Given the description of an element on the screen output the (x, y) to click on. 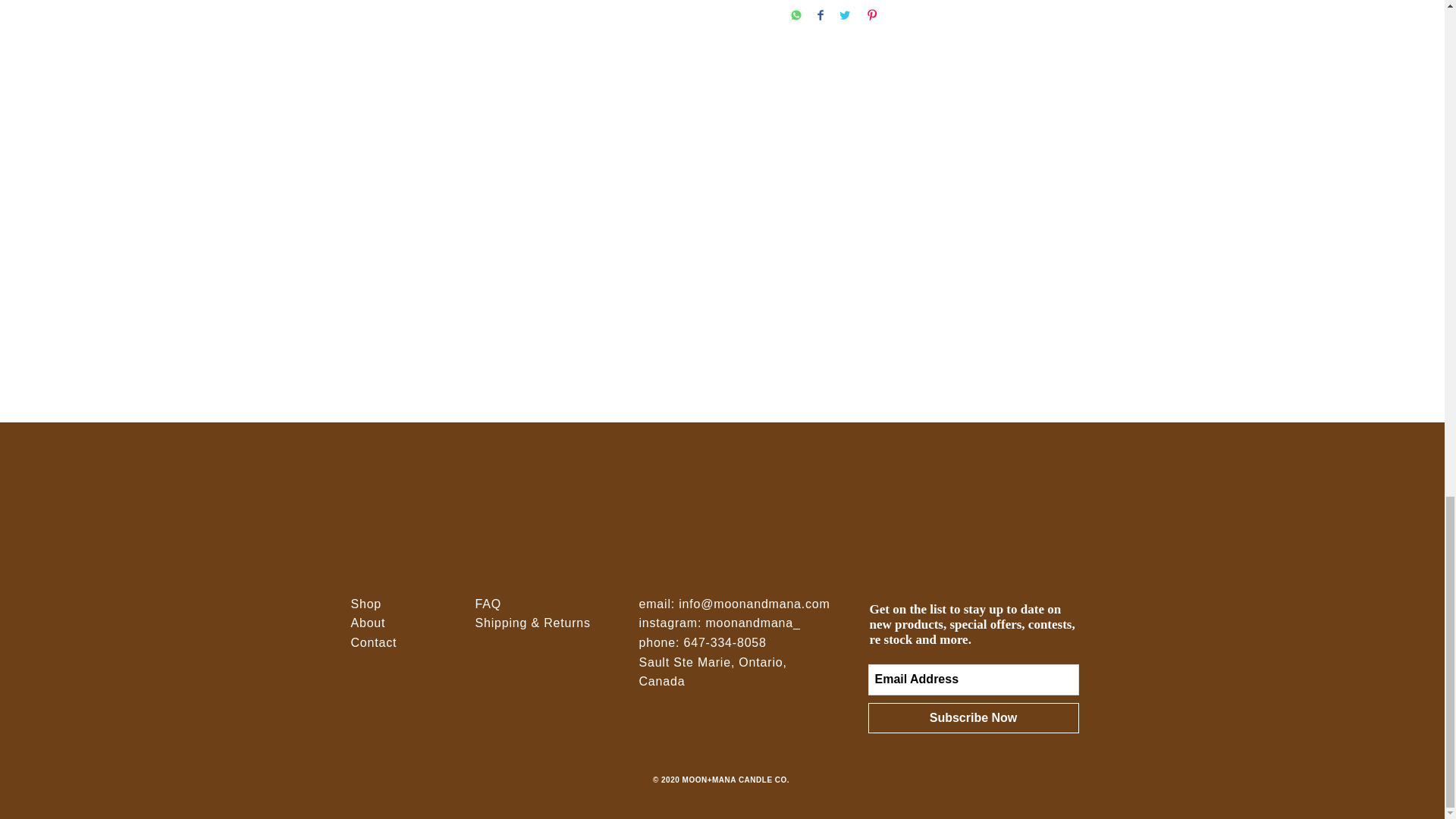
About (367, 622)
FAQ (487, 603)
Shop (365, 603)
Subscribe Now (972, 717)
Contact (373, 642)
